Given the description of an element on the screen output the (x, y) to click on. 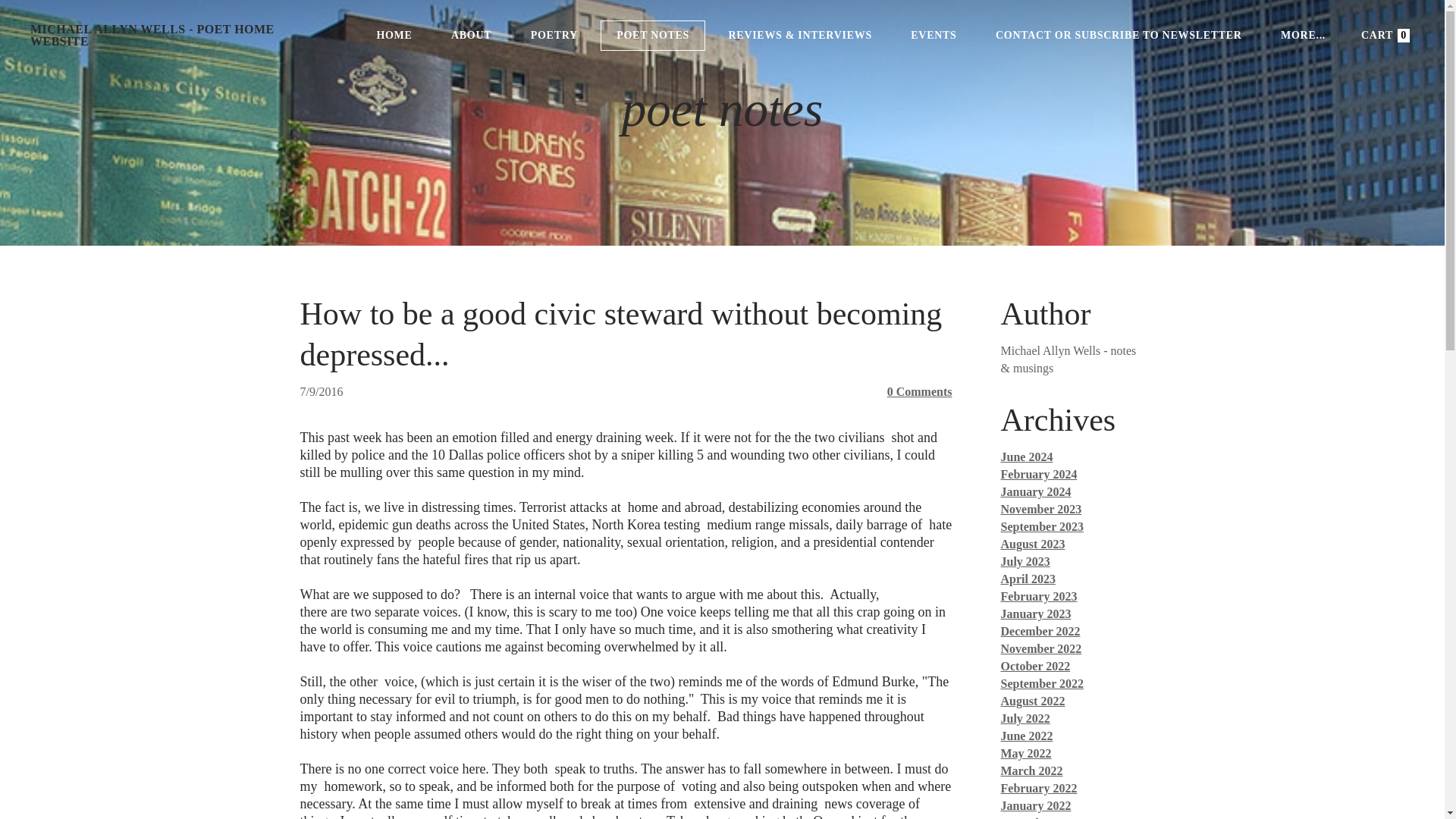
January 2024 (1036, 491)
POET NOTES (651, 35)
July 2023 (1025, 561)
November 2023 (1041, 508)
June 2024 (1026, 456)
How to be a good civic steward without becoming depressed... (620, 334)
August 2023 (1033, 543)
POETRY (554, 35)
February 2024 (1039, 473)
MORE... (1302, 35)
CART 0 (1377, 35)
0 Comments (919, 391)
February 2023 (1039, 595)
MICHAEL ALLYN WELLS - POET HOME WEBSITE (182, 35)
September 2023 (1042, 526)
